Given the description of an element on the screen output the (x, y) to click on. 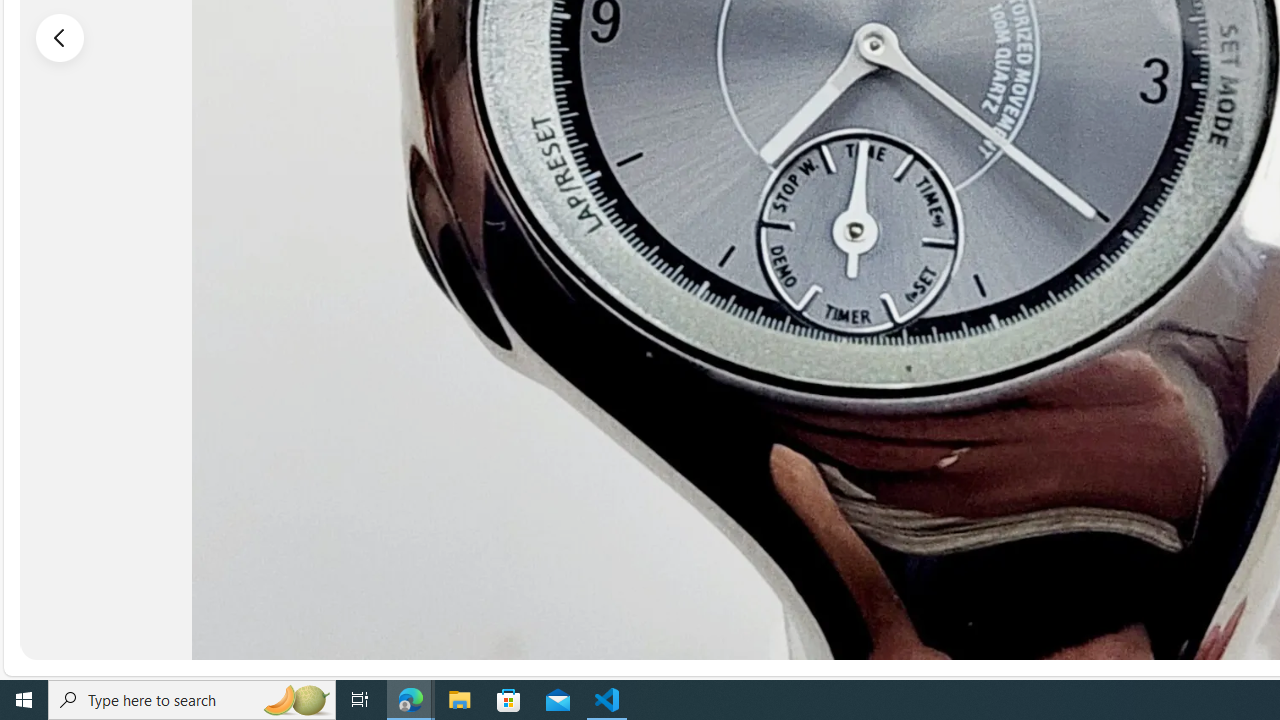
Previous image - Item images thumbnails (59, 37)
